Given the description of an element on the screen output the (x, y) to click on. 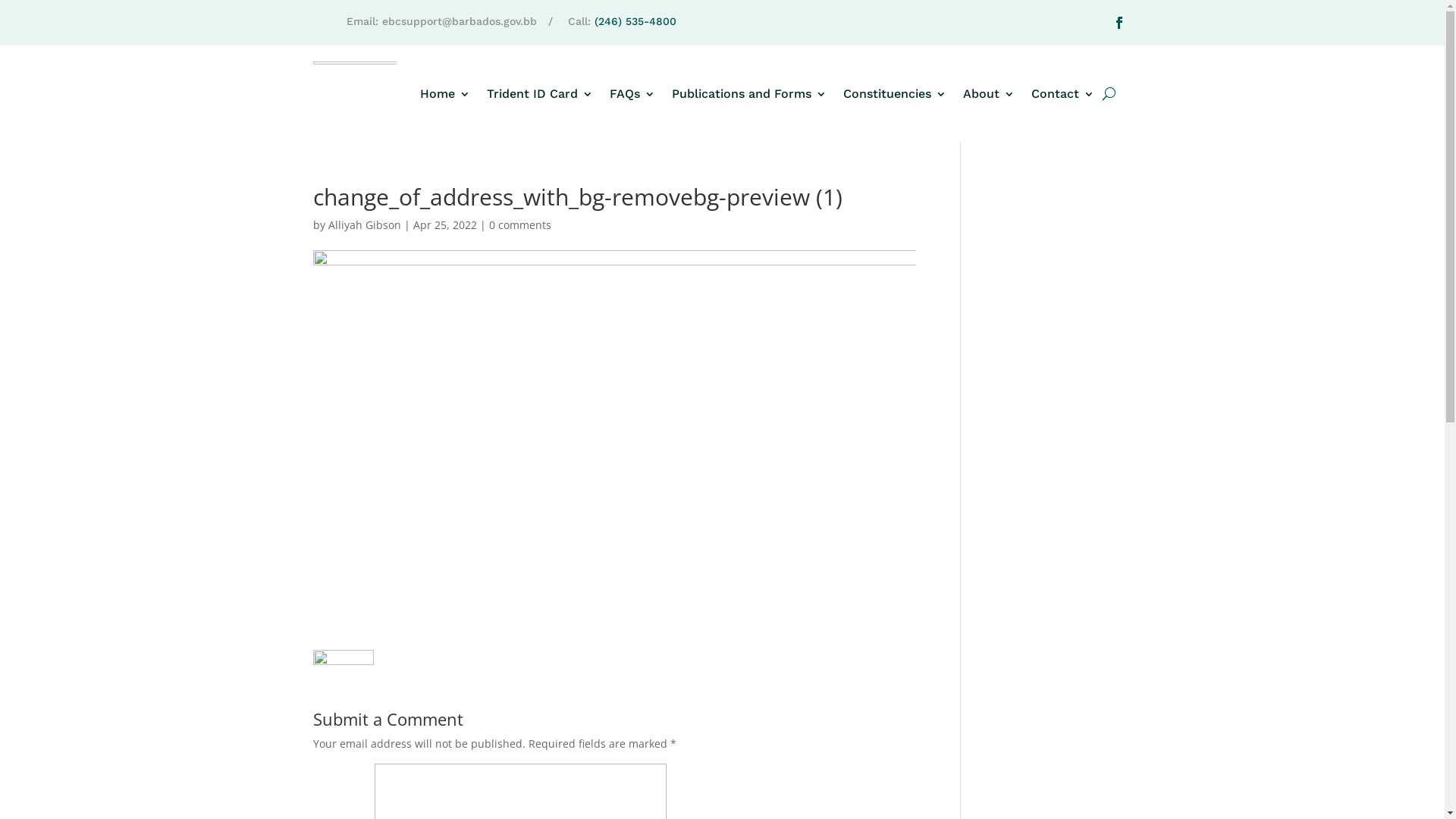
FAQs Element type: text (632, 93)
Publications and Forms Element type: text (748, 93)
0 comments Element type: text (519, 224)
Trident ID Card Element type: text (539, 93)
About Element type: text (988, 93)
Constituencies Element type: text (894, 93)
(246) 535-4800 Element type: text (635, 21)
Alliyah Gibson Element type: text (363, 224)
Home Element type: text (445, 93)
Follow on Facebook Element type: hover (1119, 22)
Contact Element type: text (1062, 93)
